Given the description of an element on the screen output the (x, y) to click on. 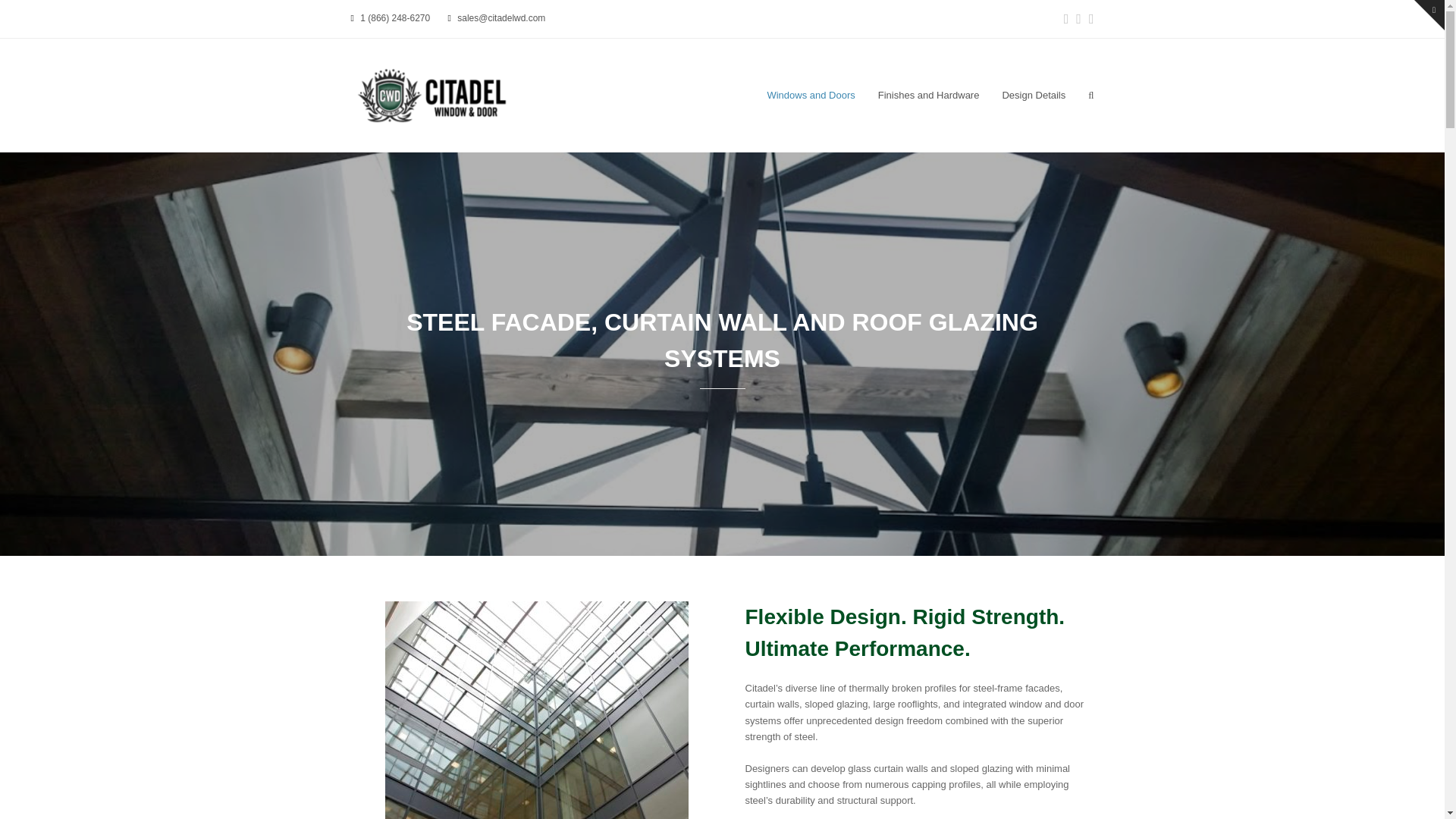
Design Details (1033, 95)
Finishes and Hardware (928, 95)
Windows and Doors (810, 95)
